Given the description of an element on the screen output the (x, y) to click on. 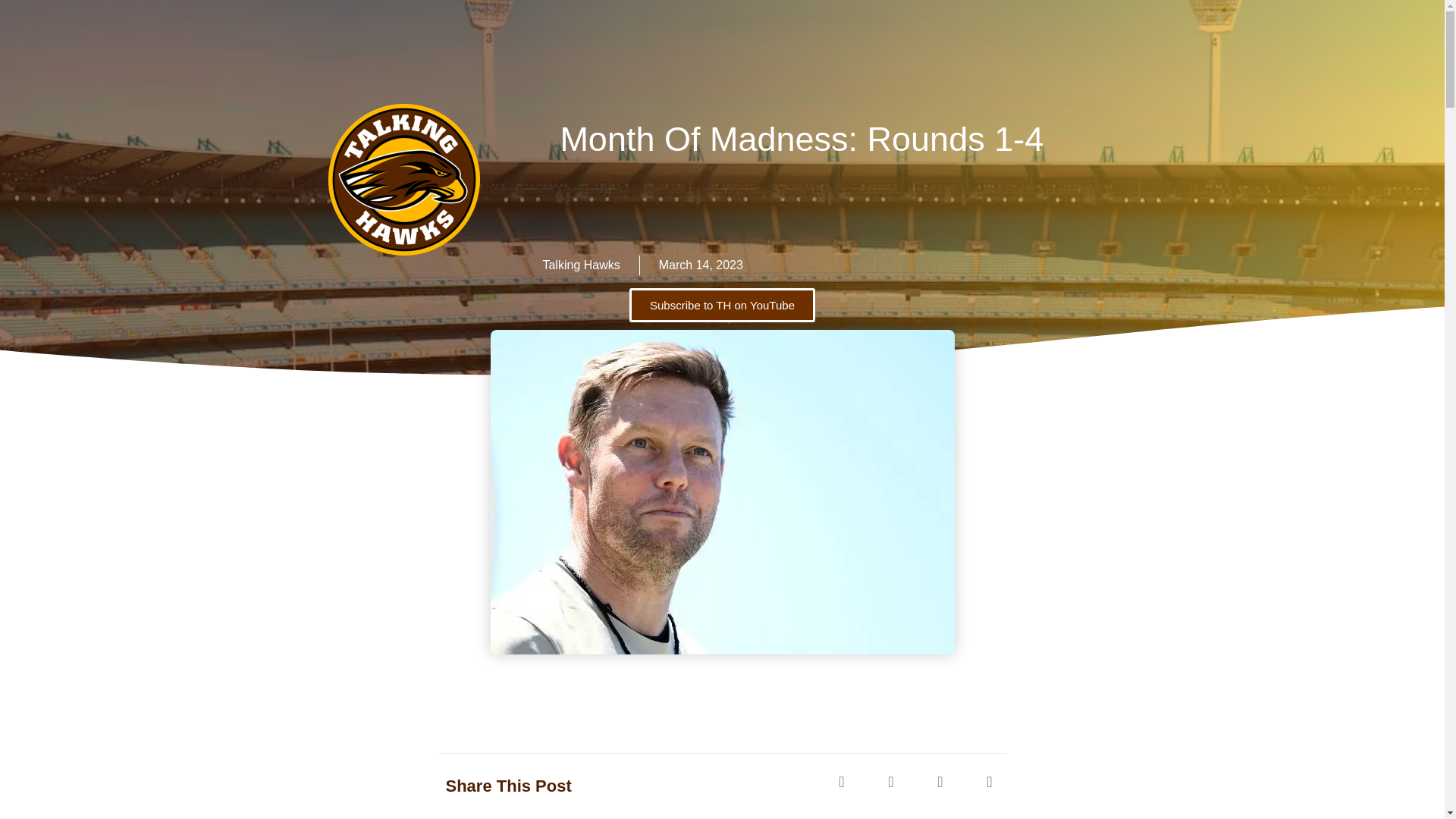
Talking Hawks (580, 265)
March 14, 2023 (700, 265)
Subscribe to TH on YouTube (721, 305)
talking-hawks-site icon (404, 179)
